Given the description of an element on the screen output the (x, y) to click on. 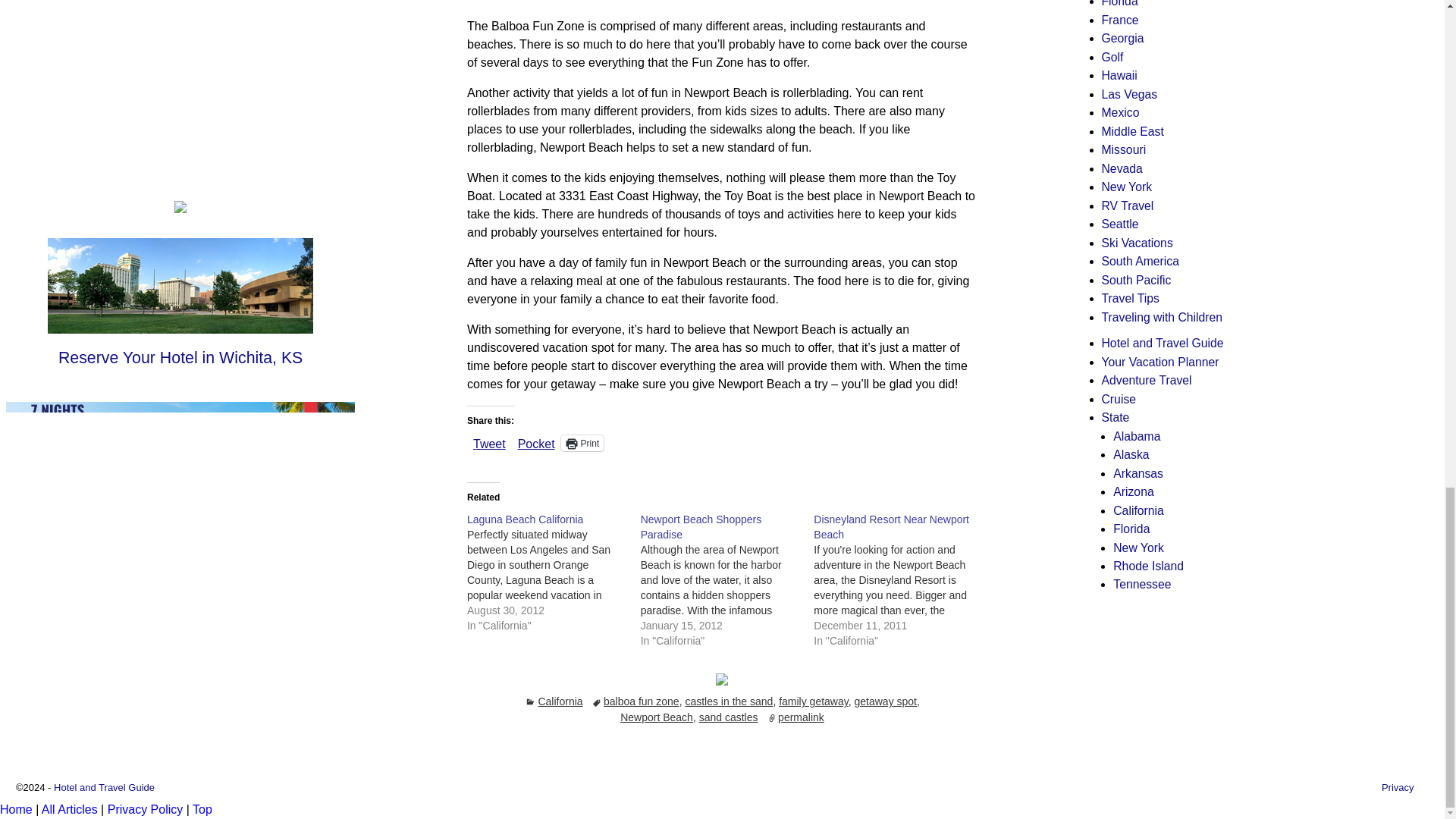
castles in the sand (728, 701)
Laguna Beach California (553, 572)
family getaway (813, 701)
Click to print (582, 442)
Newport Beach Shoppers Paradise (726, 579)
California (559, 701)
balboa fun zone (641, 701)
getaway spot (885, 701)
Laguna Beach California (525, 519)
Newport Beach Shoppers Paradise (700, 526)
Disneyland Resort Near Newport Beach (891, 526)
Laguna Beach California (525, 519)
permalink (800, 717)
Print (582, 442)
sand castles (728, 717)
